Given the description of an element on the screen output the (x, y) to click on. 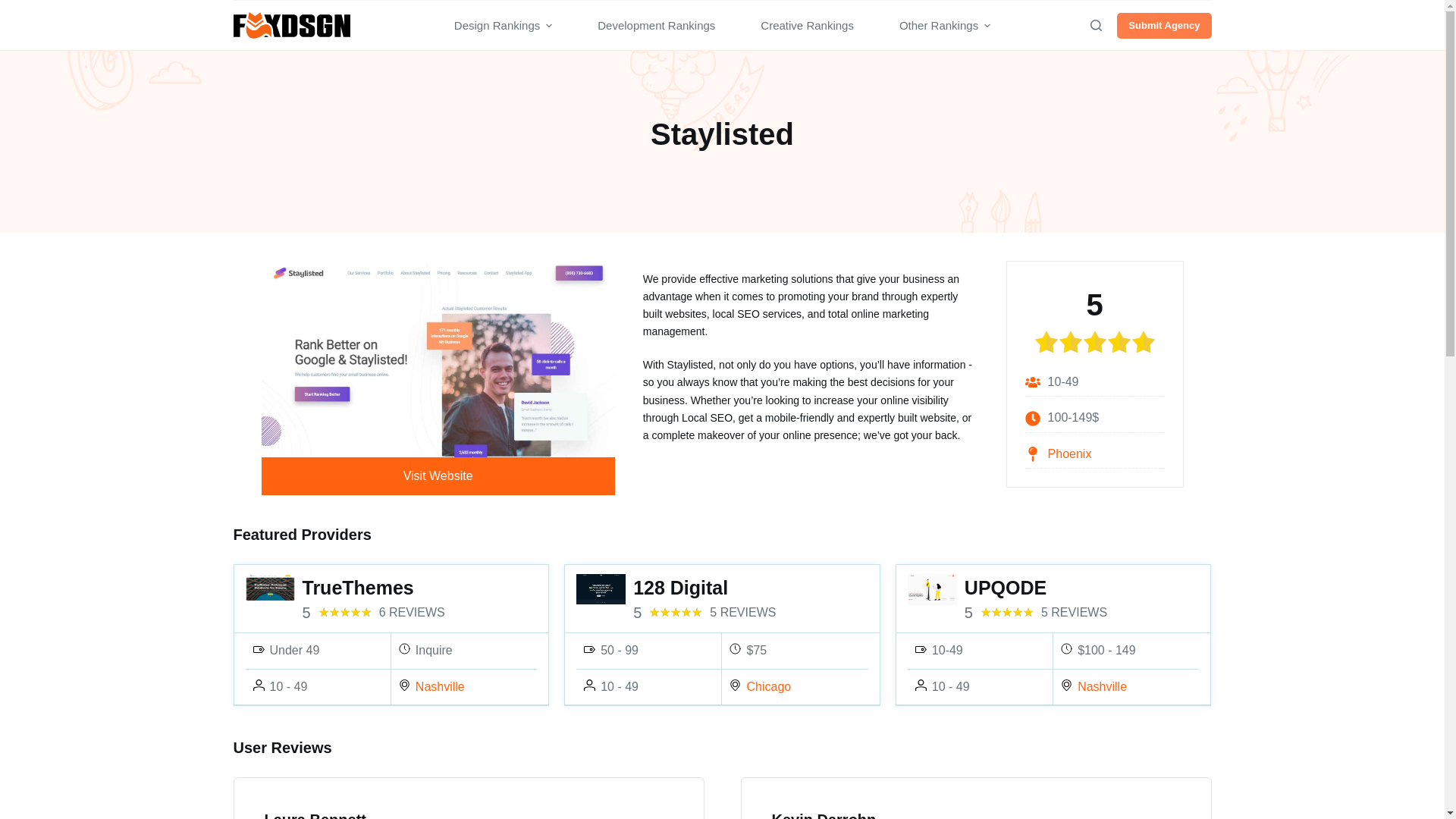
Skip to content (15, 7)
